Given the description of an element on the screen output the (x, y) to click on. 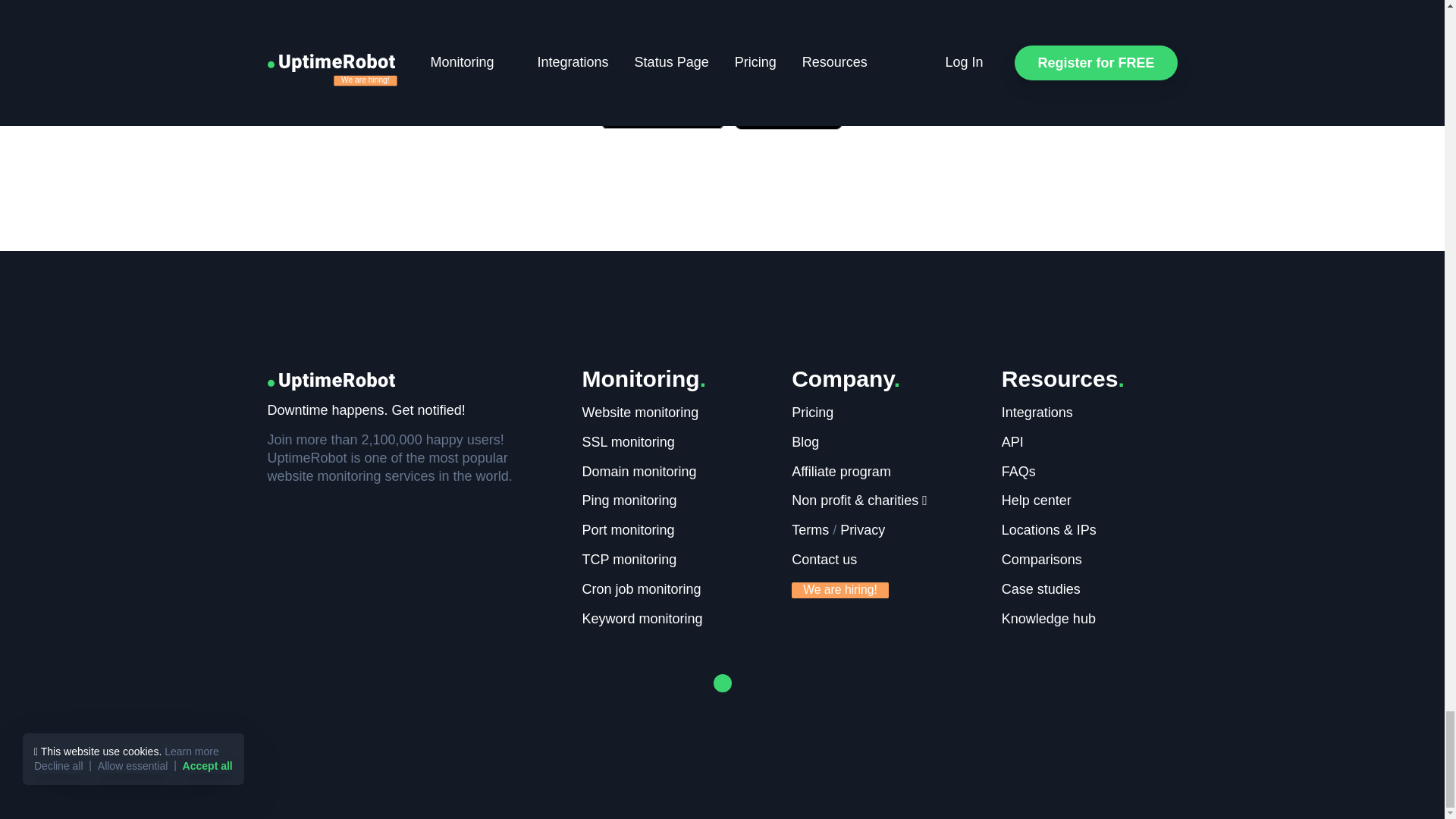
UptimeRobot Homepage (341, 381)
